Given the description of an element on the screen output the (x, y) to click on. 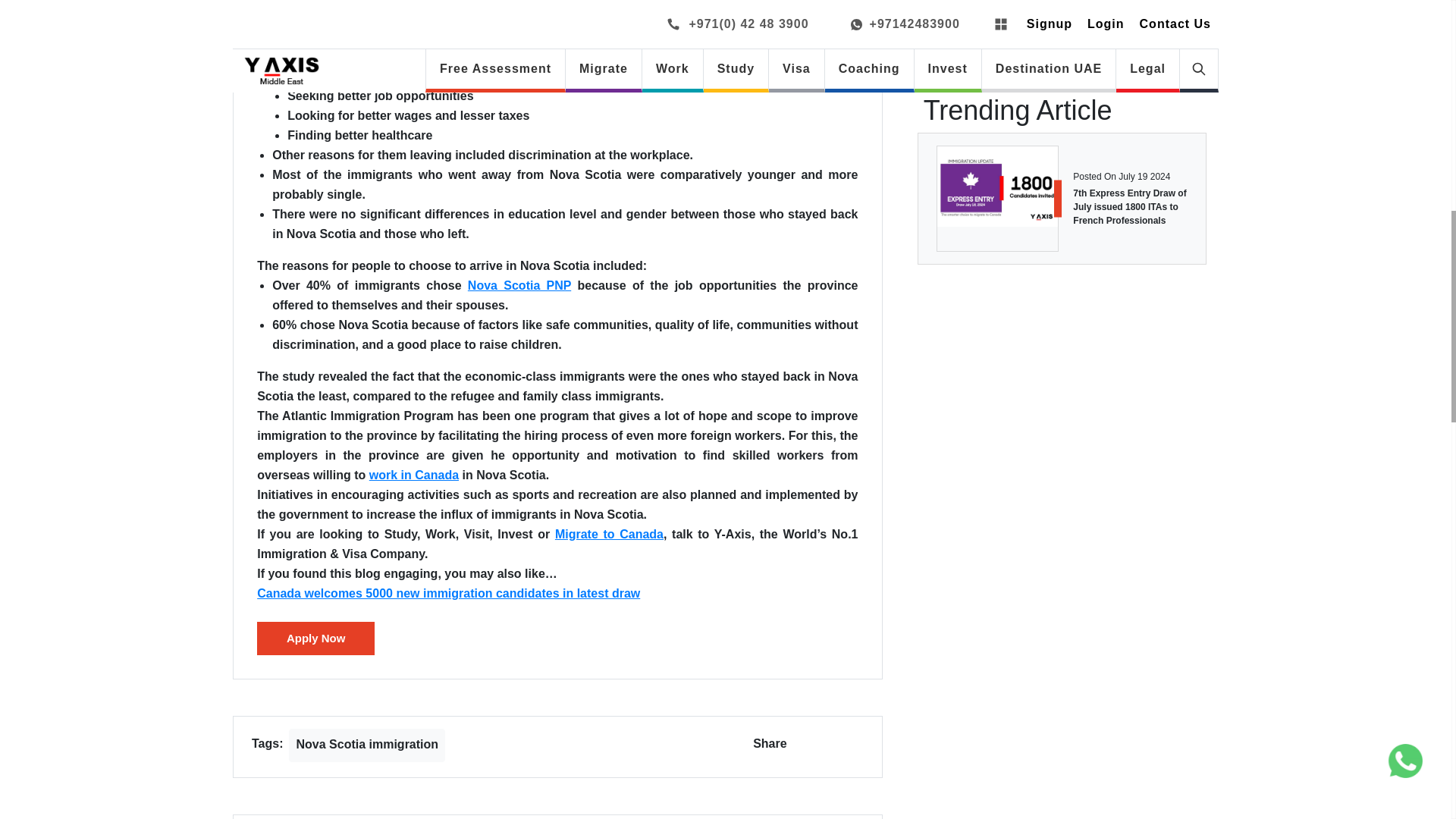
Migrate to Canada (608, 533)
work in Canada (413, 474)
Apply Now (315, 638)
Nova Scotia PNP (518, 285)
